Given the description of an element on the screen output the (x, y) to click on. 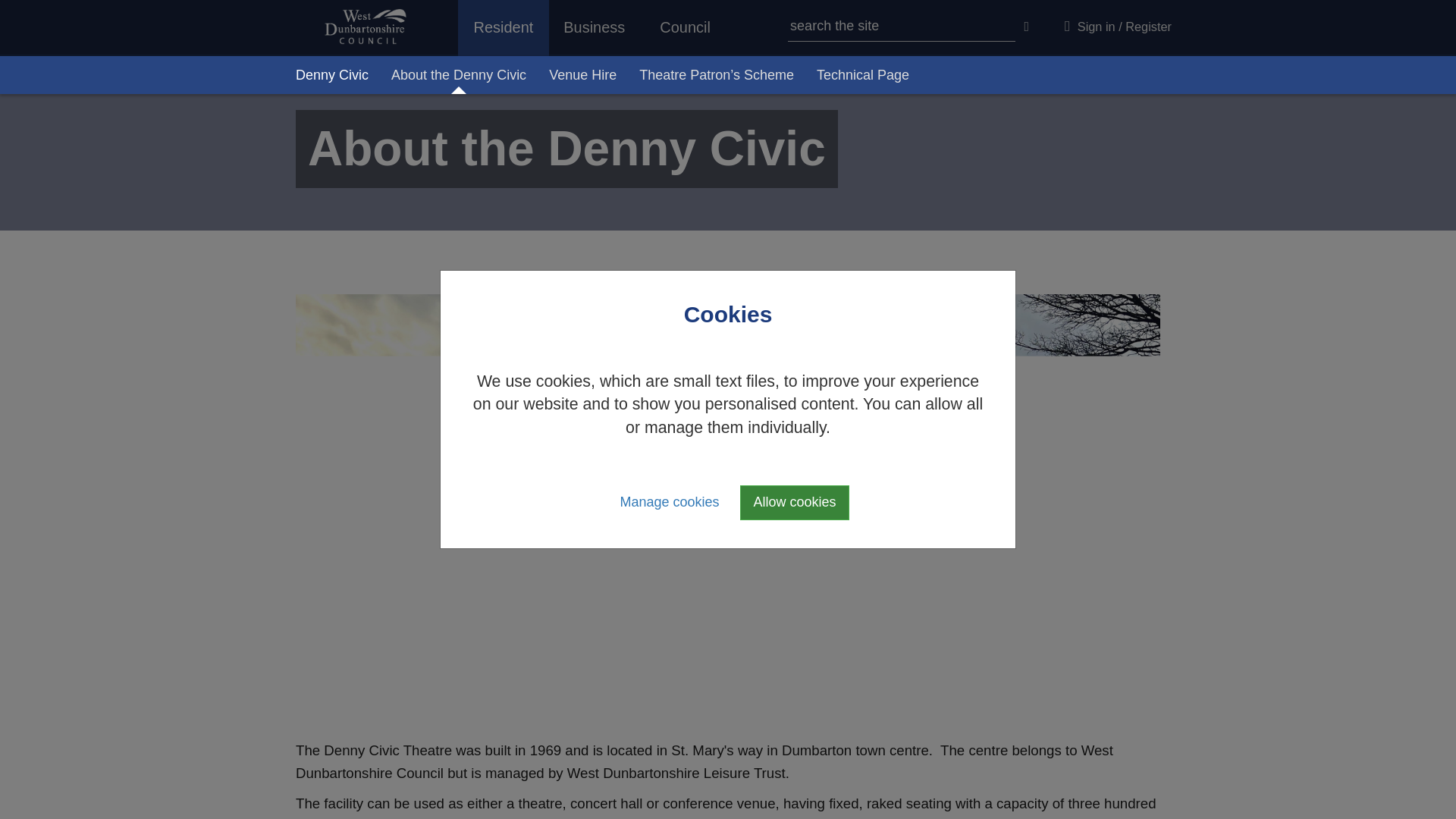
Venue Hire (582, 75)
Allow cookies (793, 502)
sign-in (1115, 24)
Manage cookies (669, 502)
Council (685, 27)
Business (594, 27)
Technical Page (862, 75)
Denny Civic (331, 75)
Resident (503, 28)
